Given the description of an element on the screen output the (x, y) to click on. 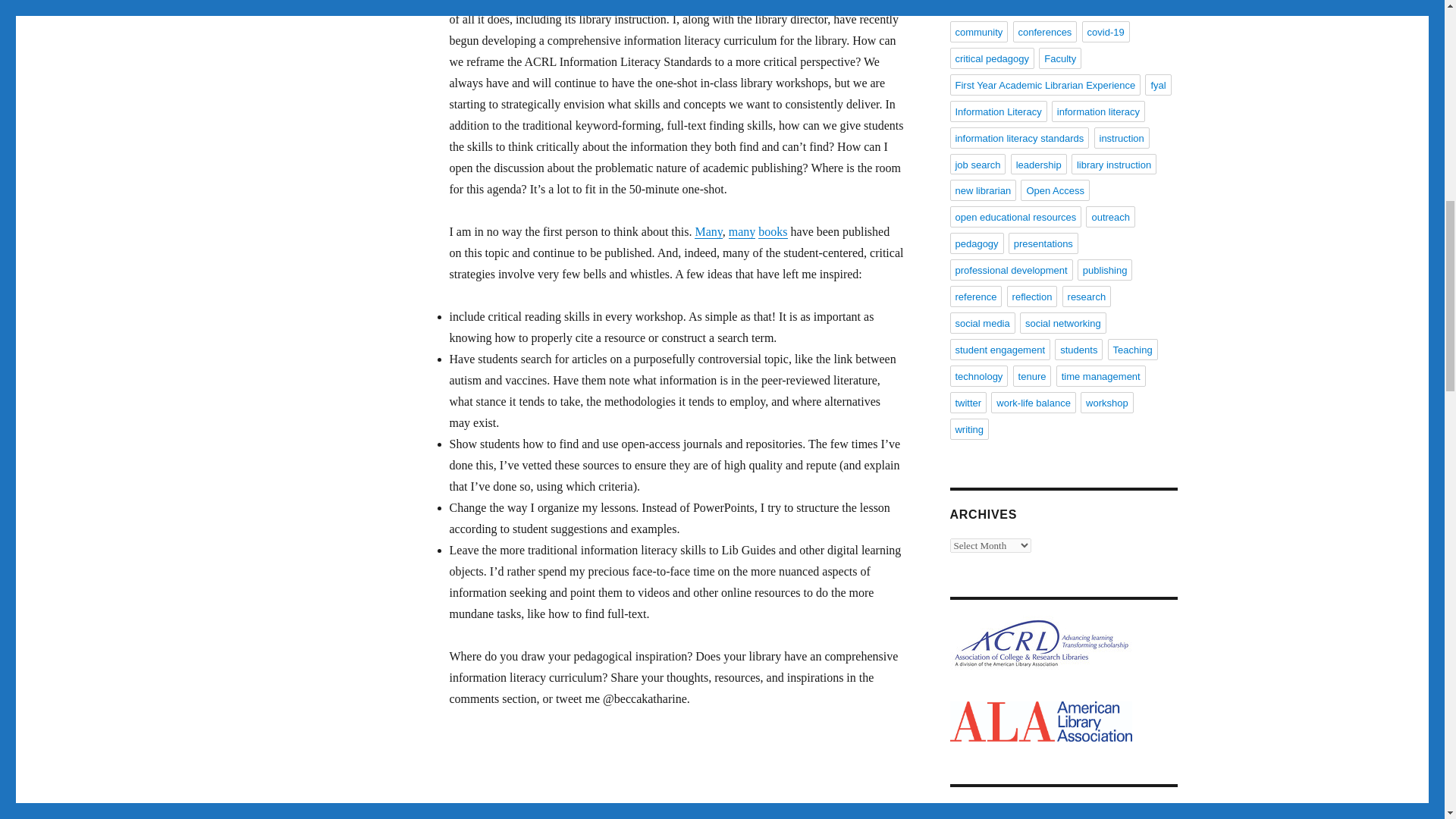
many (742, 231)
books (772, 231)
Many (708, 231)
